Given the description of an element on the screen output the (x, y) to click on. 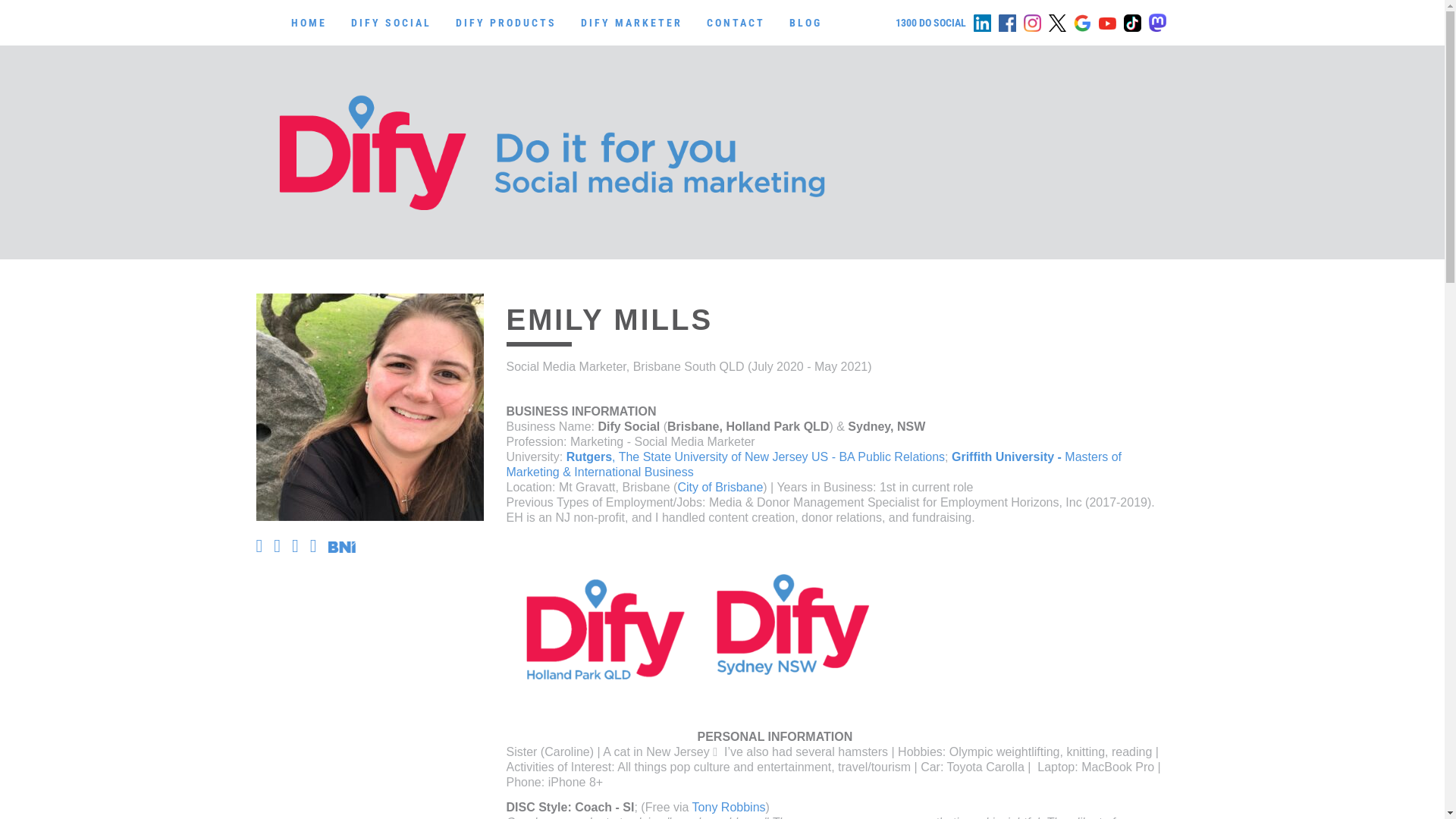
BLOG Element type: text (804, 22)
Do it for you Element type: hover (552, 152)
DIFY SOCIAL Element type: text (390, 22)
Tony Robbins Element type: text (728, 806)
CONTACT Element type: text (735, 22)
DIFY MARKETER Element type: text (631, 22)
1300 DO SOCIAL Element type: text (929, 22)
HOME Element type: text (308, 22)
DIFY PRODUCTS Element type: text (504, 22)
City of Brisbane Element type: text (719, 486)
